Given the description of an element on the screen output the (x, y) to click on. 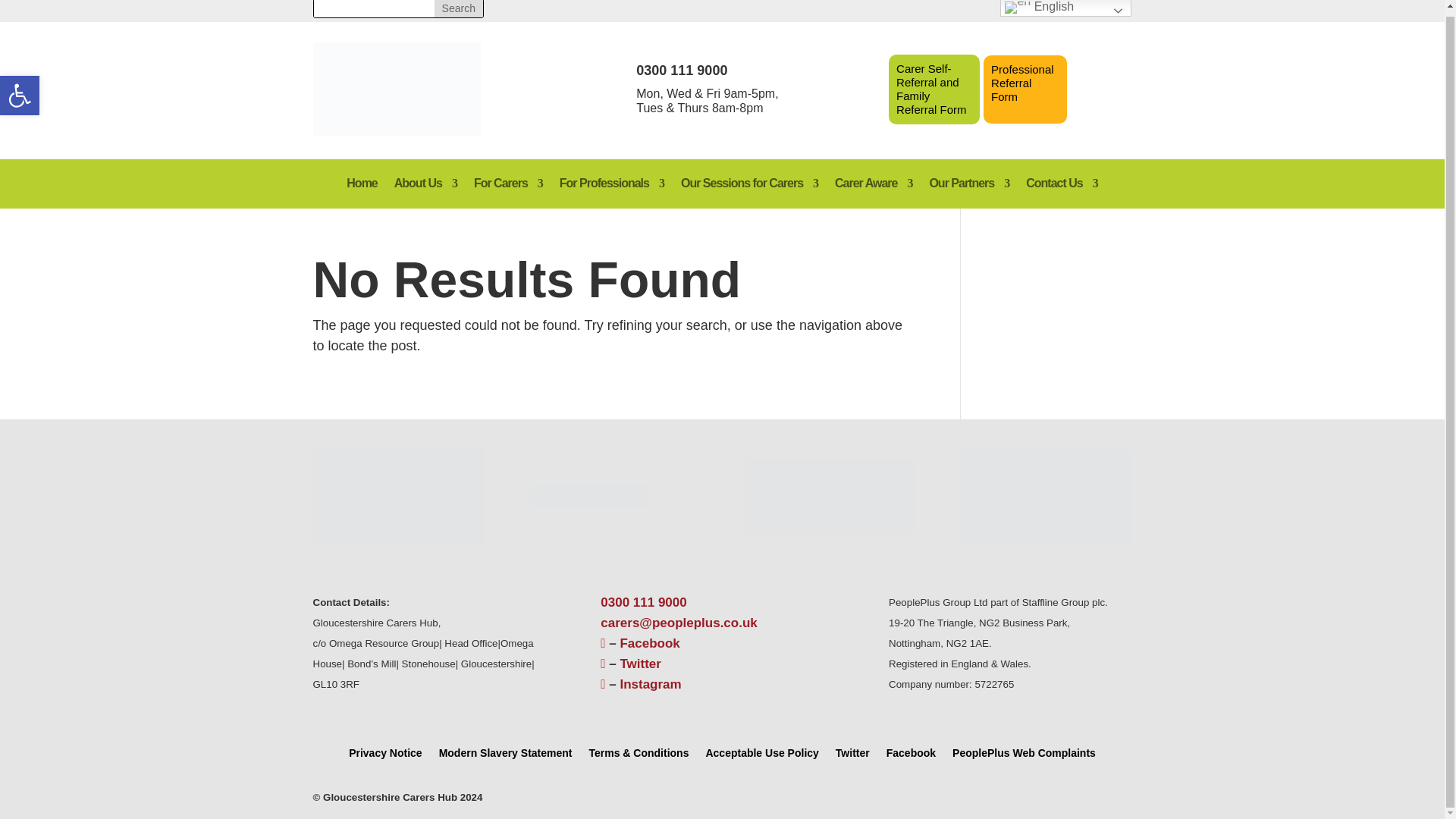
Search (458, 8)
Search (19, 89)
Accessibility Tools (458, 8)
Search (19, 89)
Accessibility Tools (458, 8)
